Given the description of an element on the screen output the (x, y) to click on. 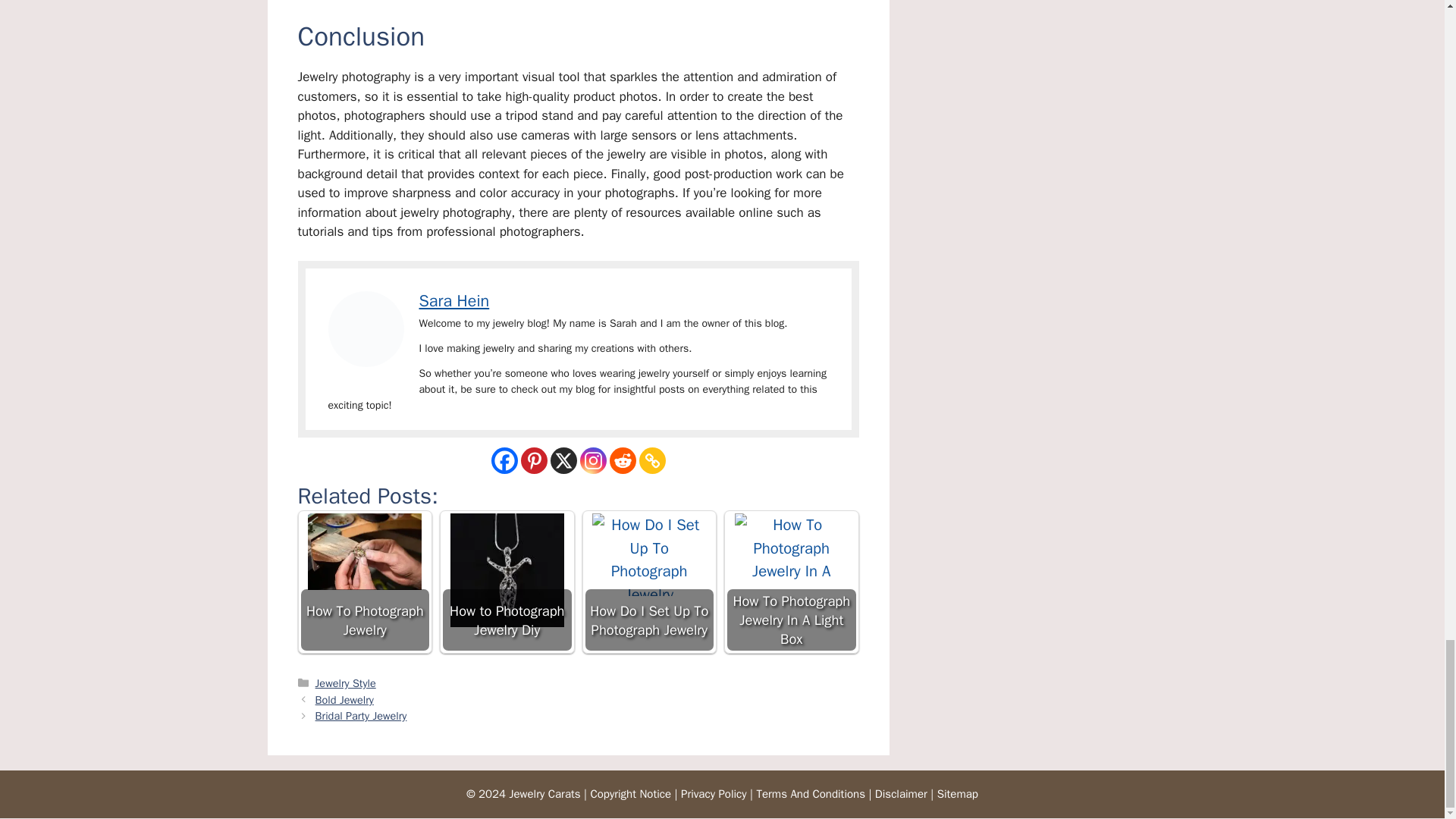
Instagram (592, 460)
What Is The Best Way To Photograph Jewelry 2 (365, 328)
Pinterest (533, 460)
Facebook (505, 460)
X (563, 460)
